Given the description of an element on the screen output the (x, y) to click on. 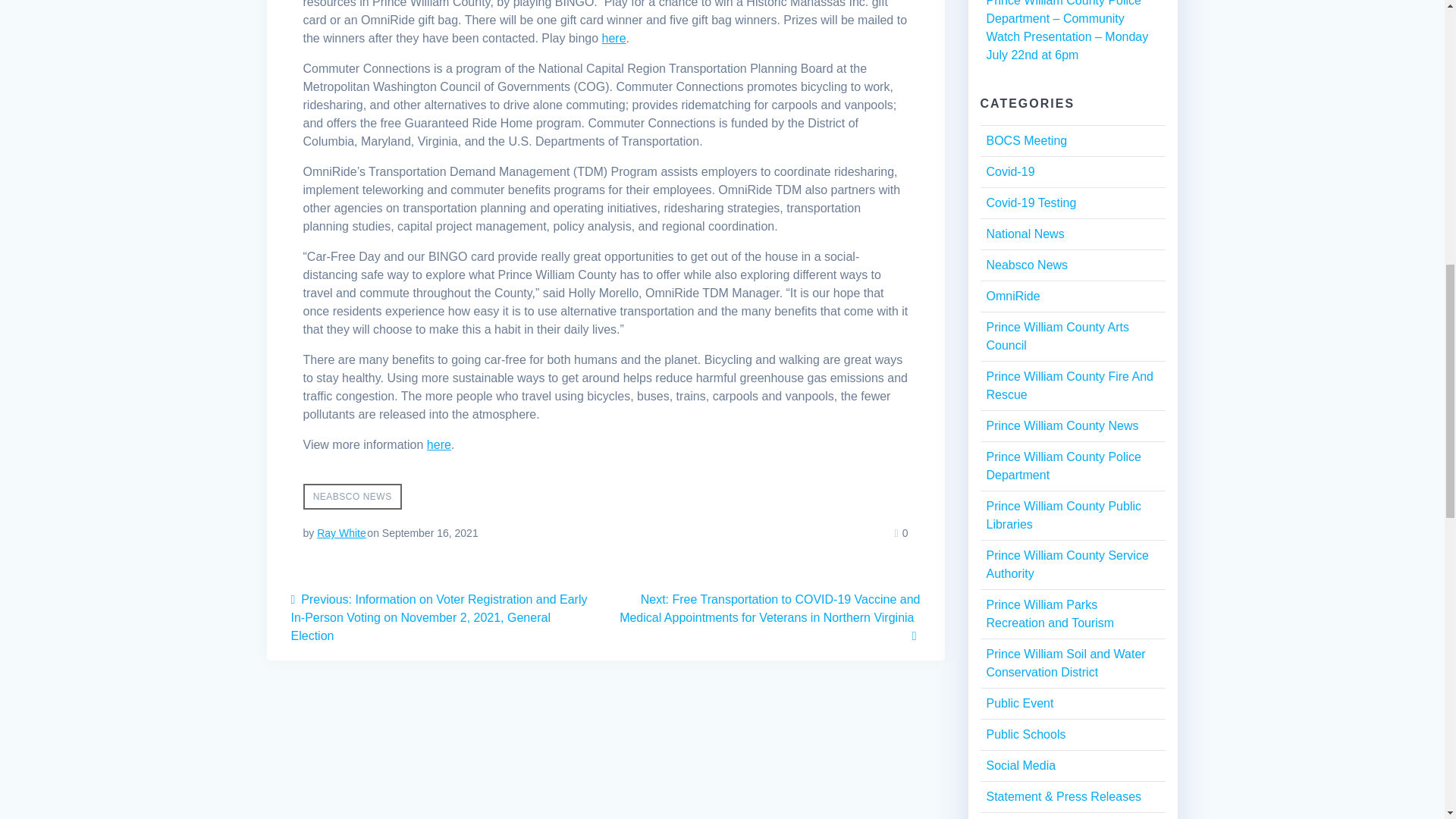
Posts by Ray White (341, 532)
